Given the description of an element on the screen output the (x, y) to click on. 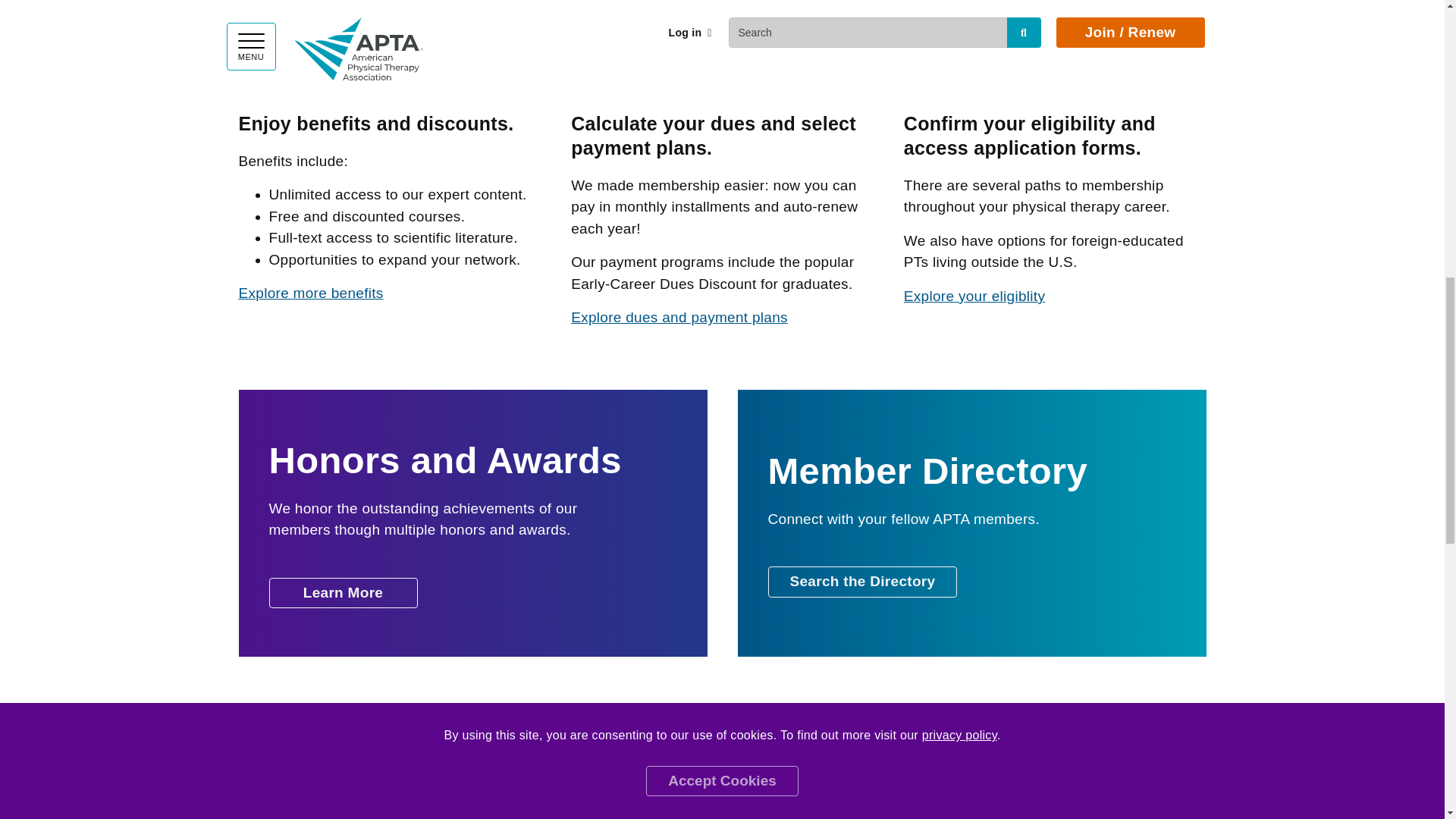
Explore your eligibility (974, 295)
Learn More (341, 593)
Search the Directory (861, 581)
Explore dues and payment plans (678, 317)
